Given the description of an element on the screen output the (x, y) to click on. 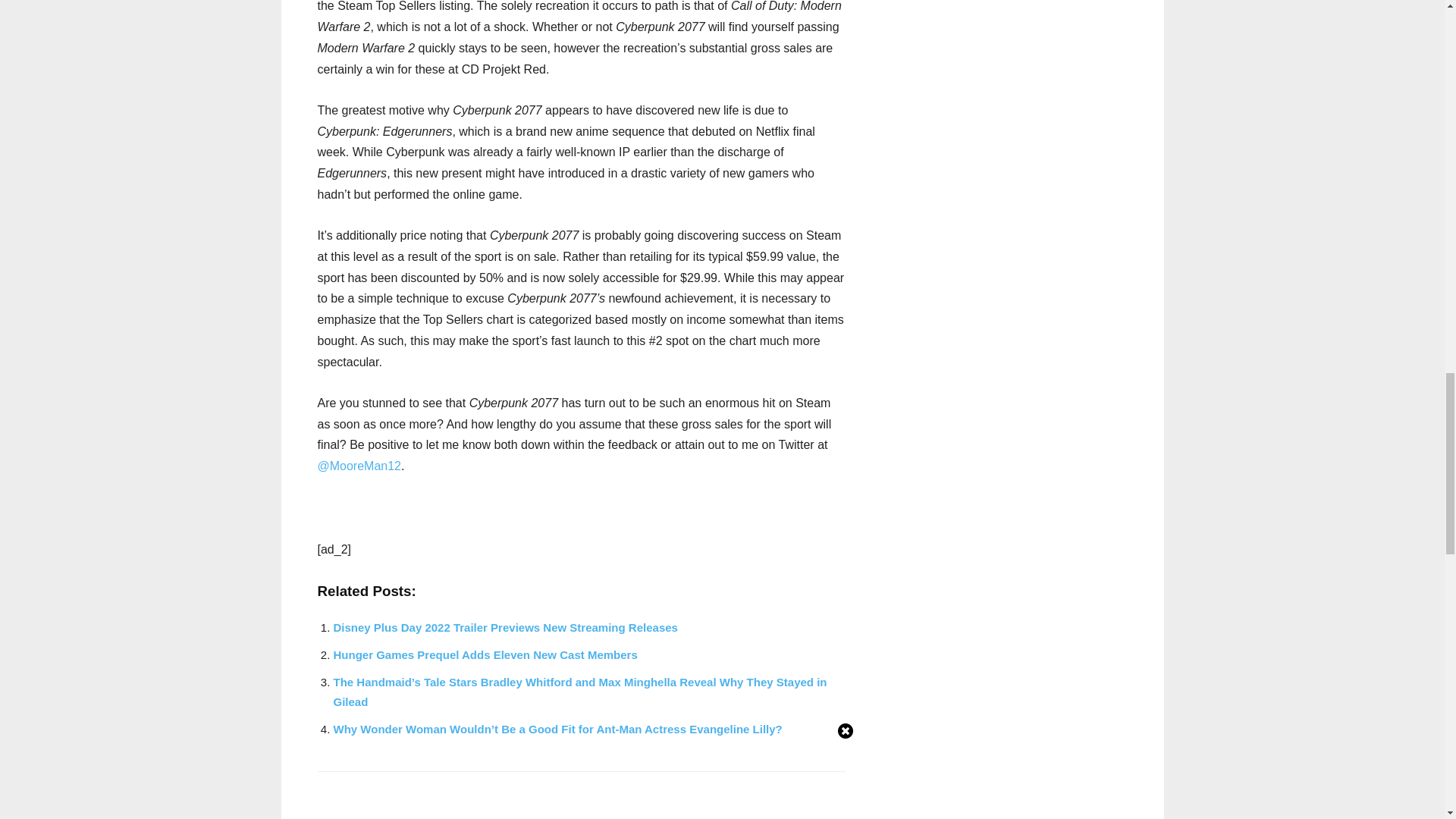
bottomFacebookLike (430, 795)
Hunger Games Prequel Adds Eleven New Cast Members (485, 654)
Disney Plus Day 2022 Trailer Previews New Streaming Releases (505, 626)
Disney Plus Day 2022 Trailer Previews New Streaming Releases (505, 626)
Hunger Games Prequel Adds Eleven New Cast Members (485, 654)
